Given the description of an element on the screen output the (x, y) to click on. 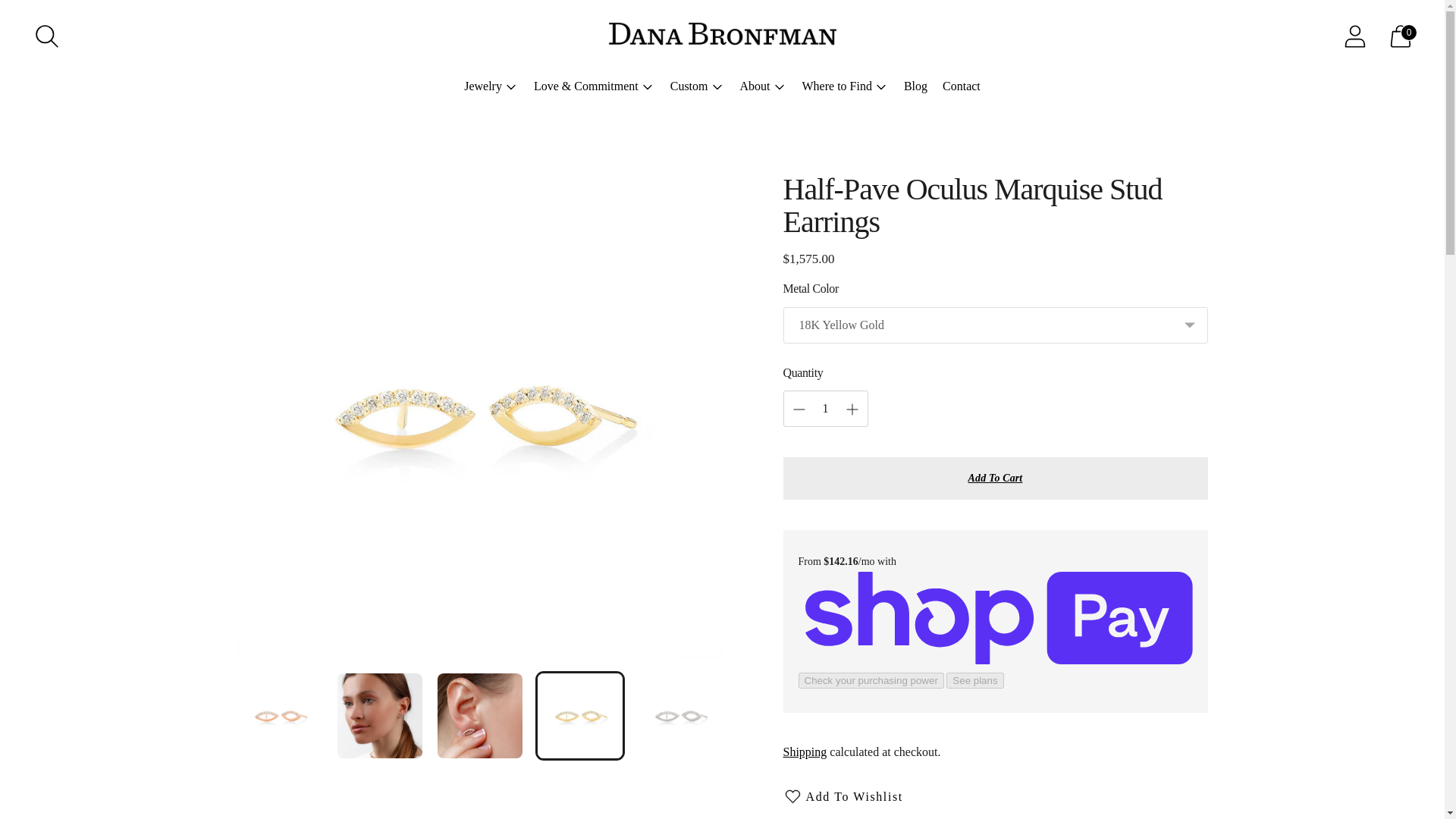
About (763, 86)
0 (1400, 36)
Jewelry (491, 86)
Where to Find (845, 86)
Custom (697, 86)
